Given the description of an element on the screen output the (x, y) to click on. 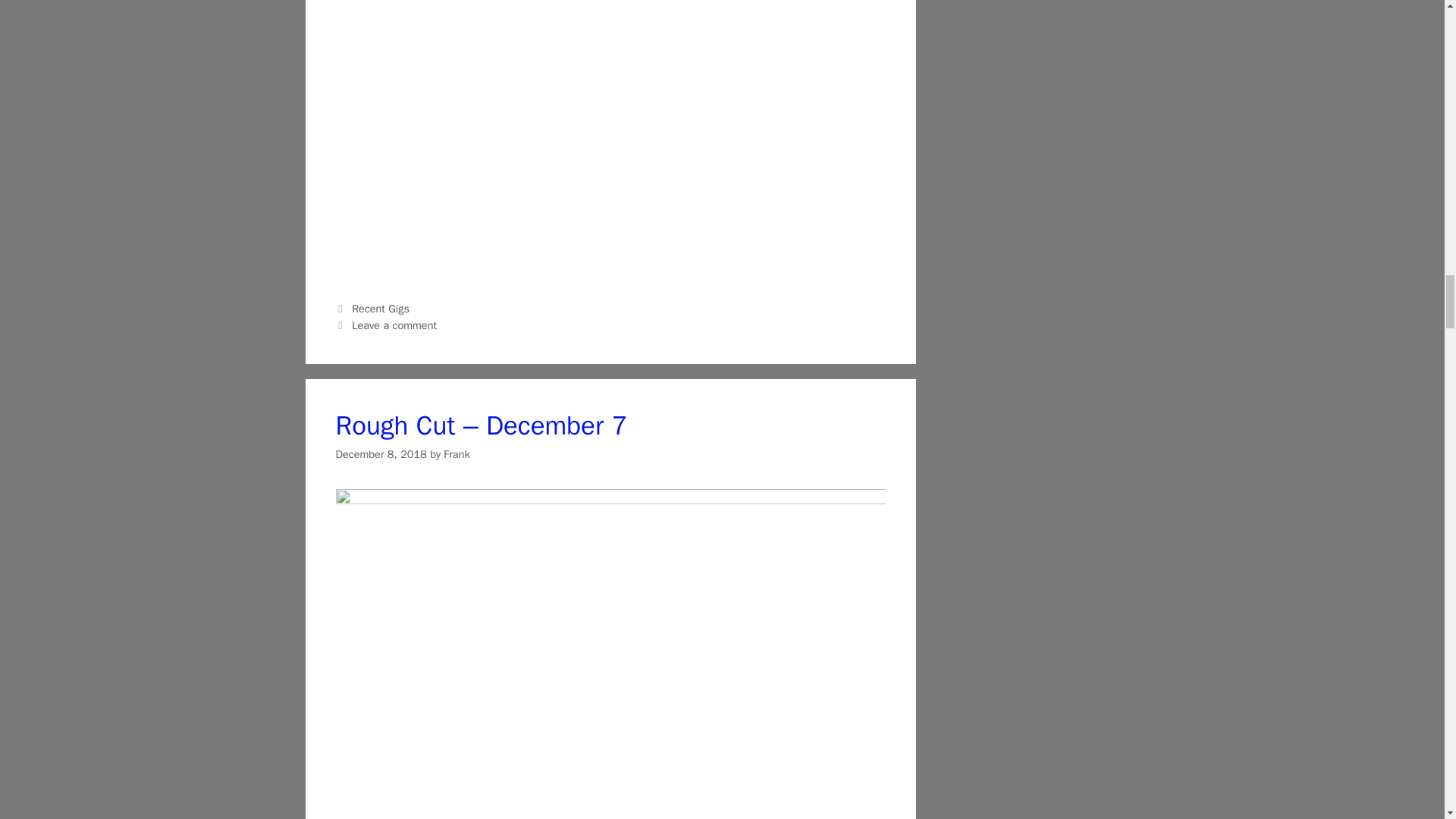
Frank (456, 454)
View all posts by Frank (456, 454)
Leave a comment (394, 325)
Recent Gigs (380, 308)
